Given the description of an element on the screen output the (x, y) to click on. 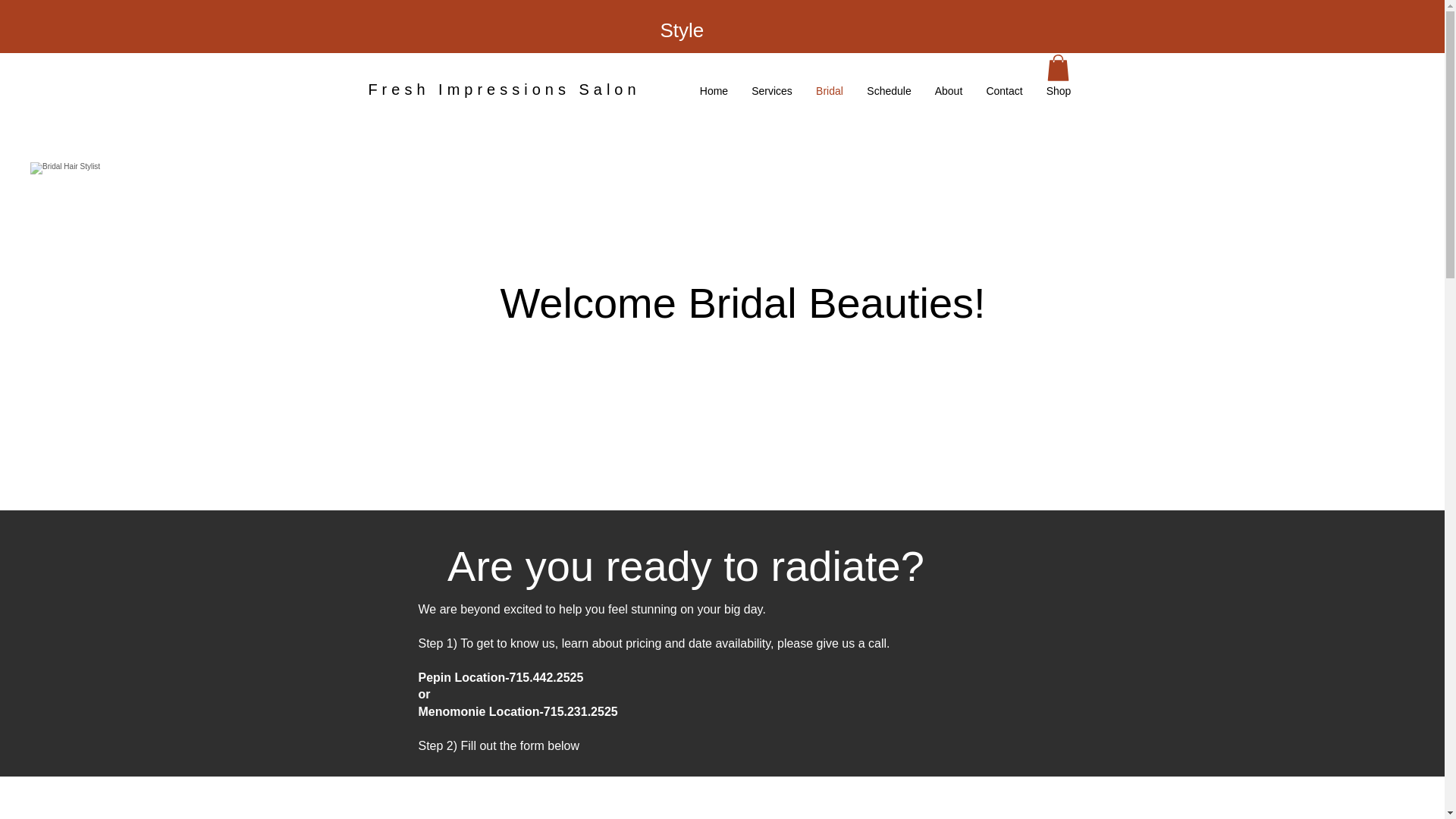
Home (713, 90)
Contact (1003, 90)
About (948, 90)
Shop (1057, 90)
Schedule (889, 90)
Bridal (828, 90)
Fresh Impressions Salon (504, 89)
Services (772, 90)
